Given the description of an element on the screen output the (x, y) to click on. 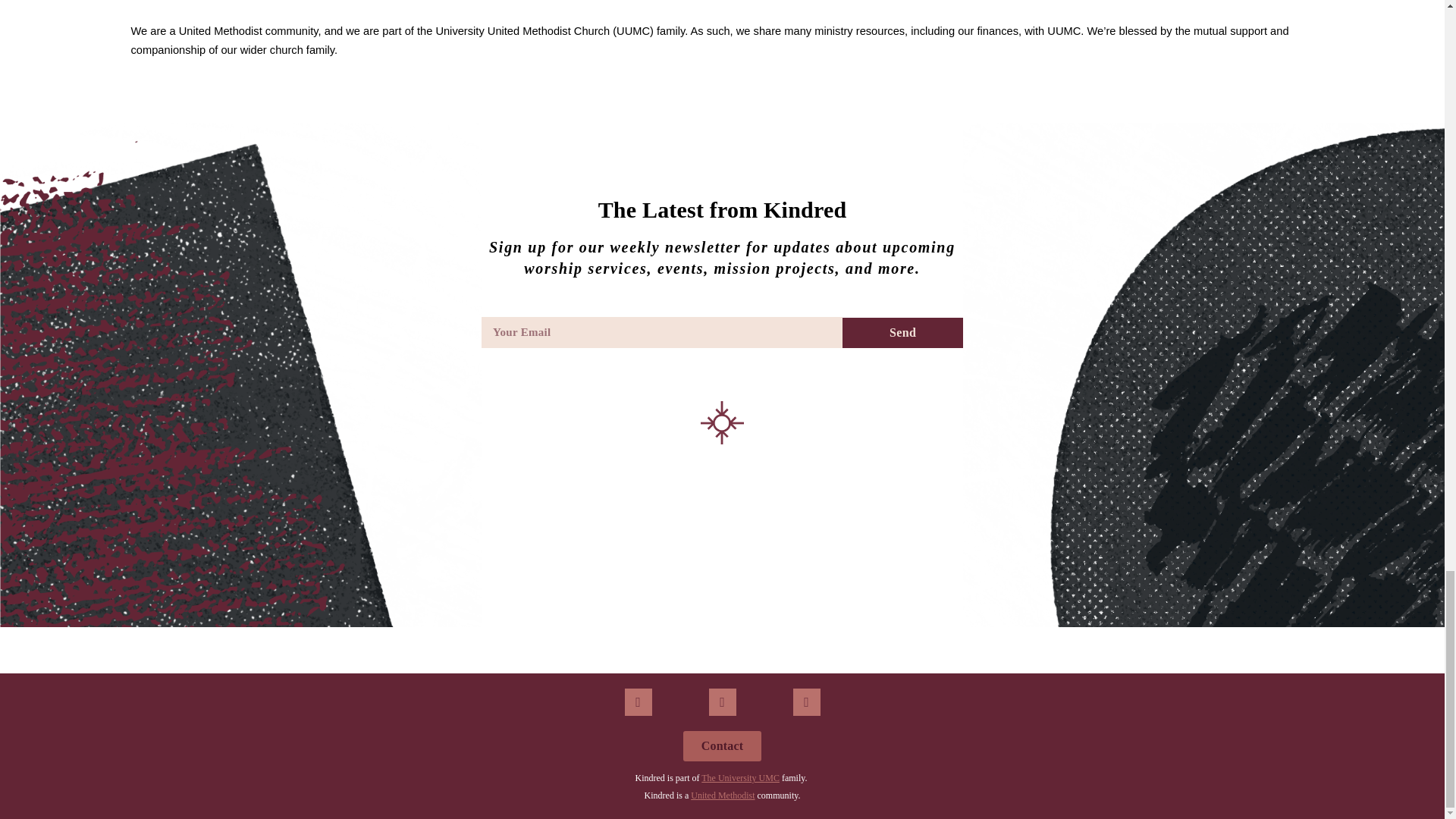
United Methodist (722, 795)
The University UMC (739, 777)
Contact (721, 746)
Send (902, 332)
